Given the description of an element on the screen output the (x, y) to click on. 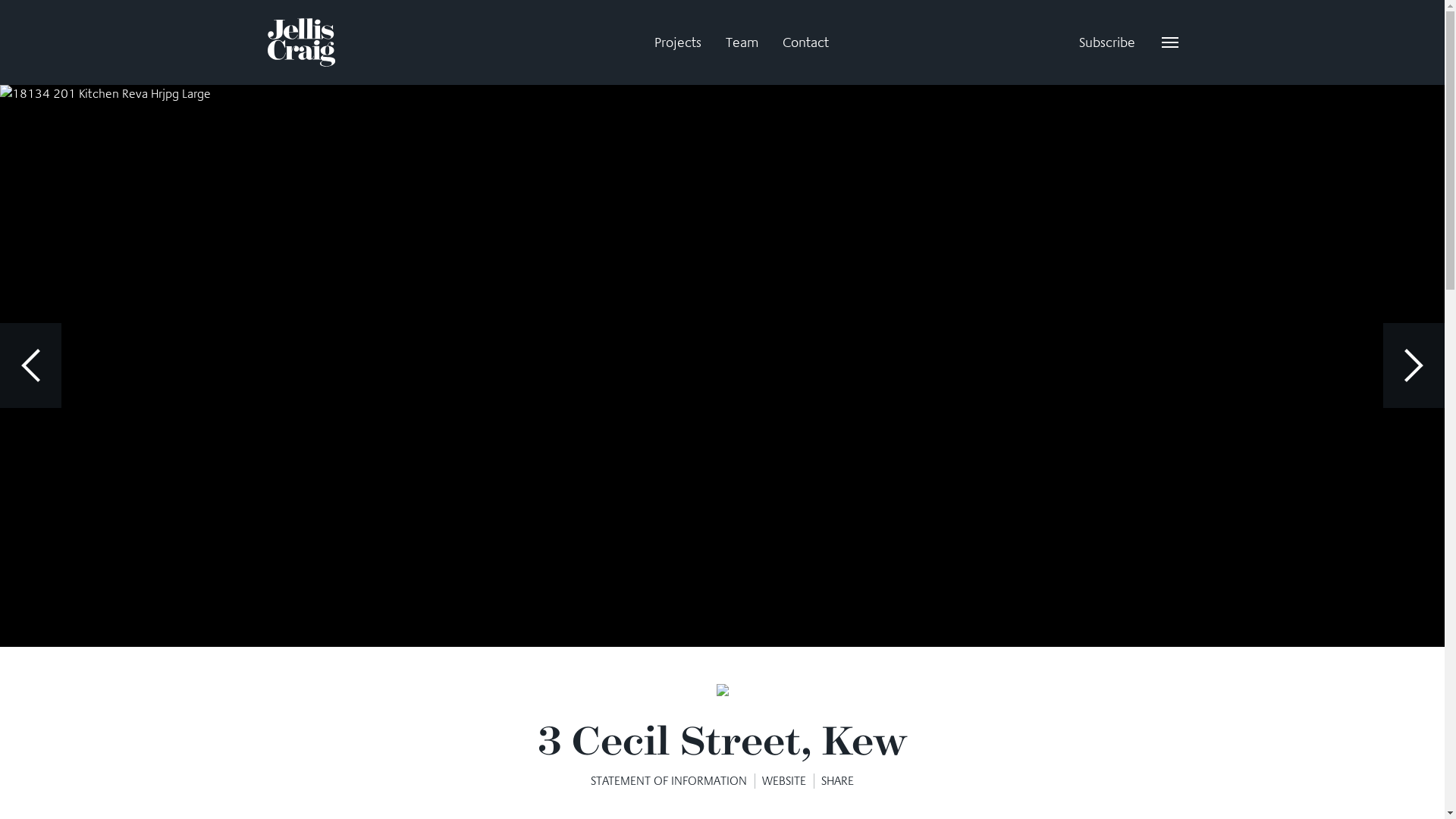
Projects Element type: text (676, 41)
WEBSITE Element type: text (791, 780)
STATEMENT OF INFORMATION Element type: text (676, 780)
Team Element type: text (740, 41)
Contact Element type: text (805, 41)
Subscribe Element type: text (1106, 41)
